Given the description of an element on the screen output the (x, y) to click on. 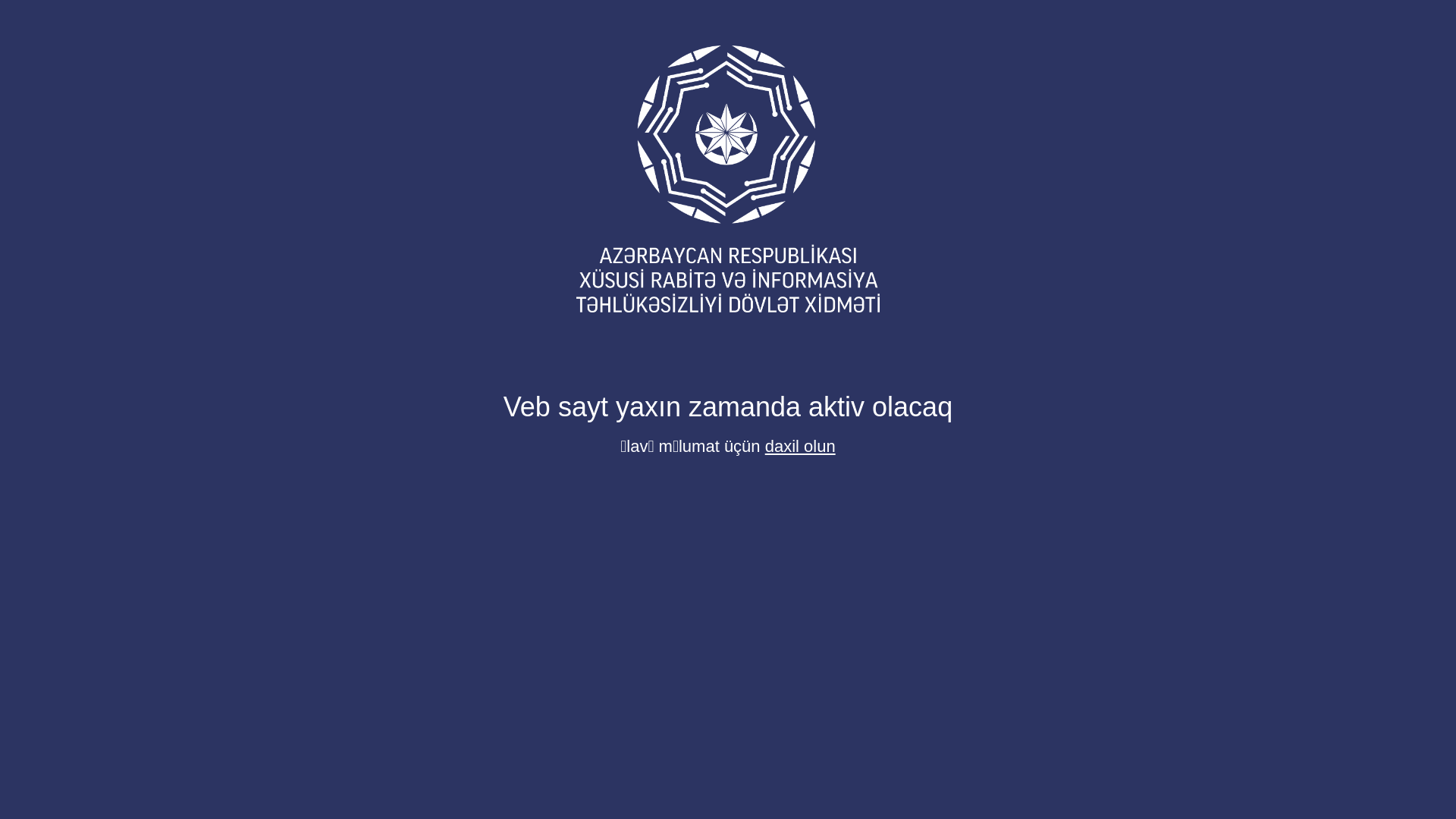
daxil olun Element type: text (800, 445)
